Given the description of an element on the screen output the (x, y) to click on. 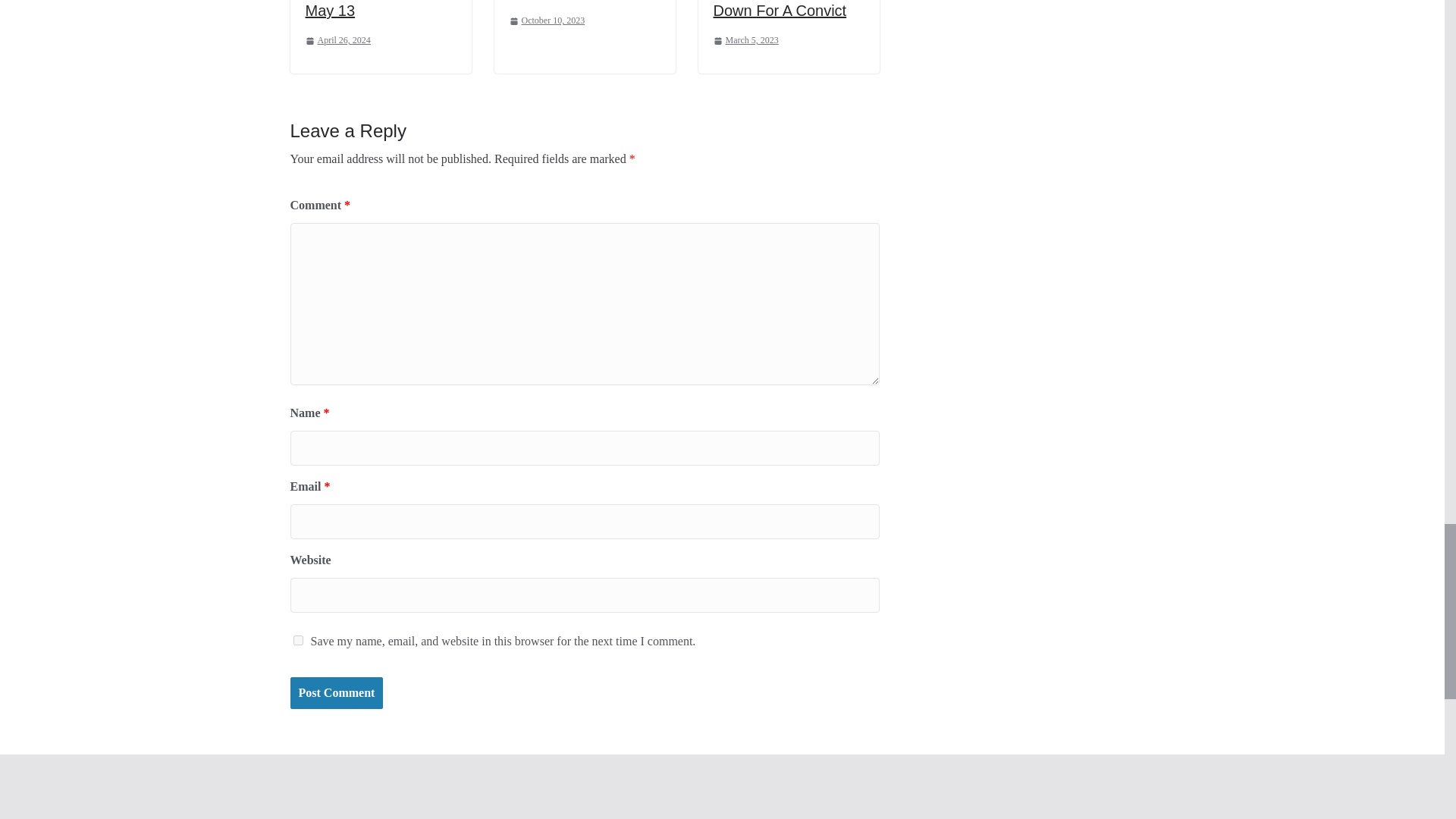
Post Comment (335, 693)
yes (297, 640)
April 26, 2024 (336, 40)
